Given the description of an element on the screen output the (x, y) to click on. 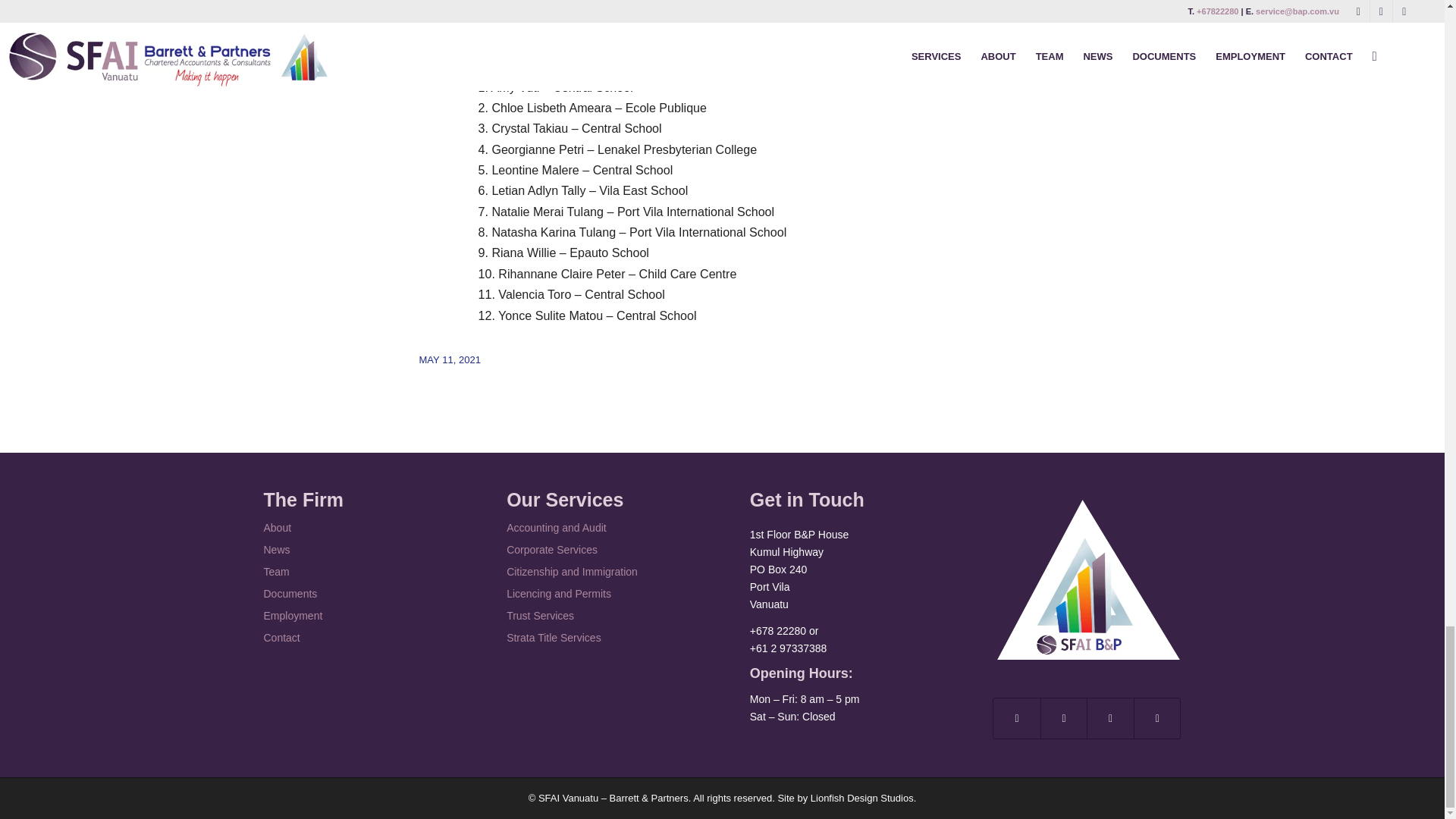
Employment (357, 616)
Corporate Services (600, 549)
footer-icon-complete (1086, 578)
Accounting and Audit (600, 527)
Documents (357, 594)
Team (357, 572)
News (357, 549)
Contact (357, 638)
Licencing and Permits (600, 594)
Citizenship and Immigration (600, 572)
